Given the description of an element on the screen output the (x, y) to click on. 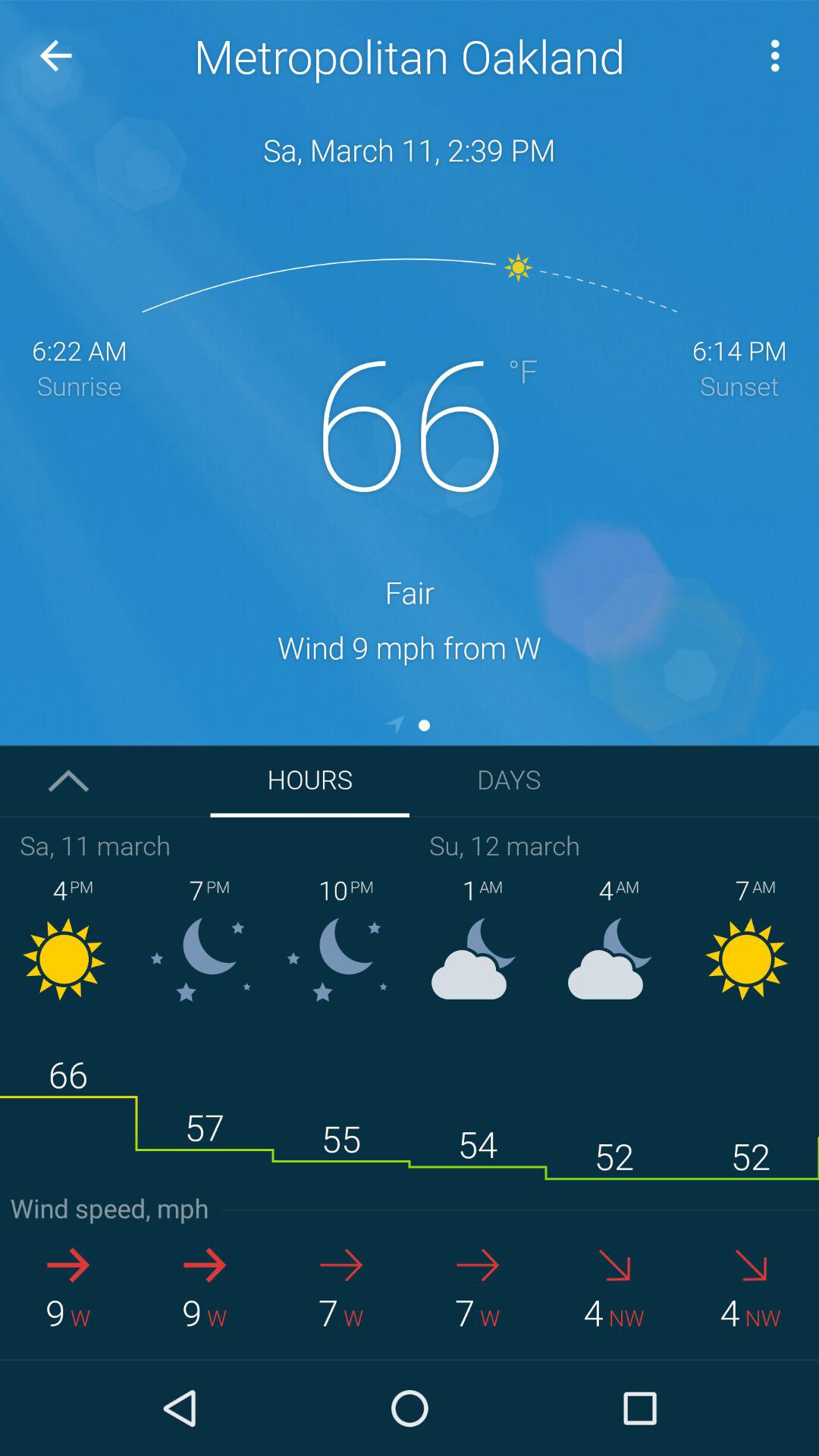
select more option which is on the top right corner of page (779, 55)
